Given the description of an element on the screen output the (x, y) to click on. 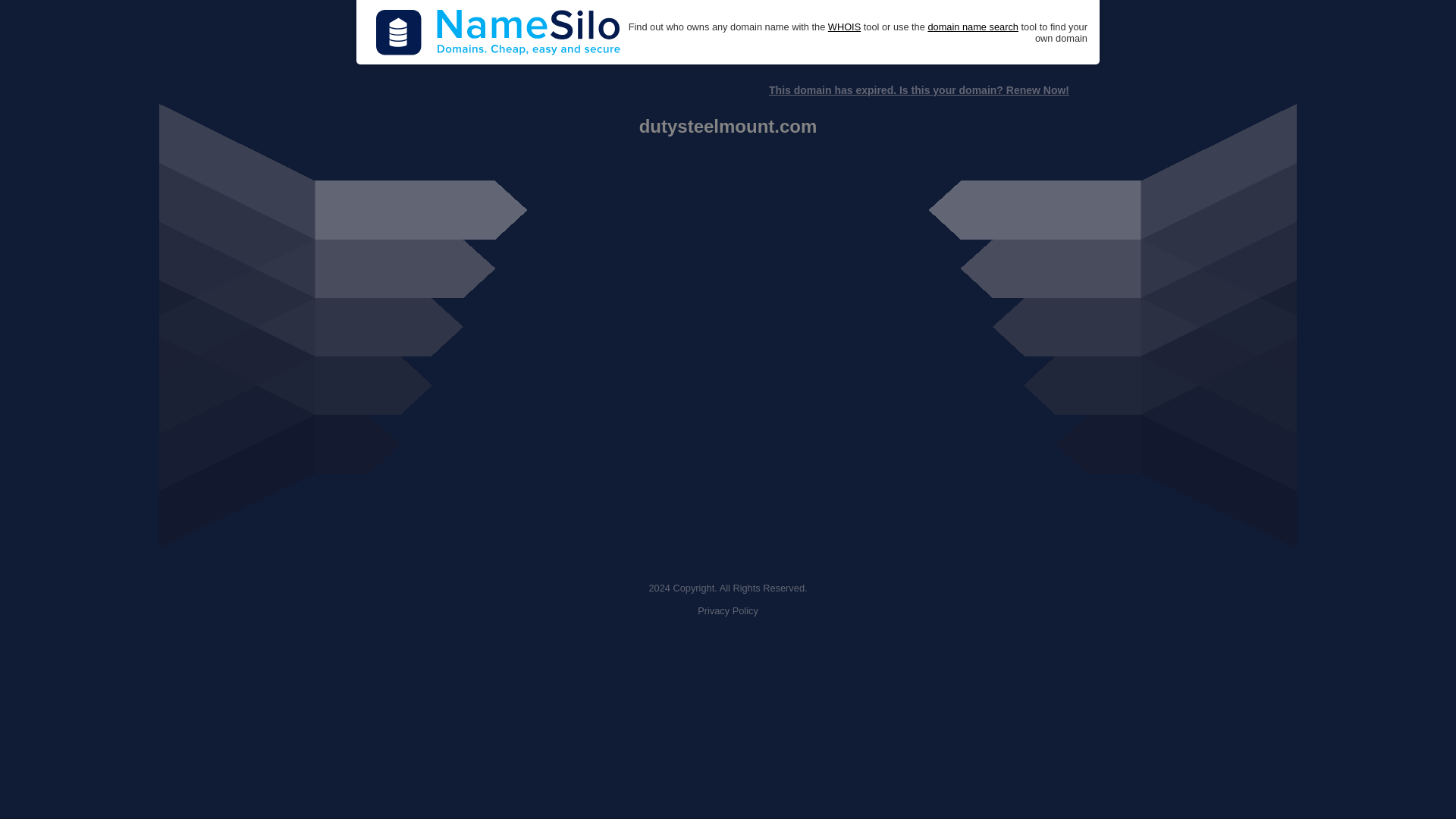
Privacy Policy (727, 610)
domain name search (972, 26)
WHOIS (844, 26)
This domain has expired. Is this your domain? Renew Now! (918, 90)
